Given the description of an element on the screen output the (x, y) to click on. 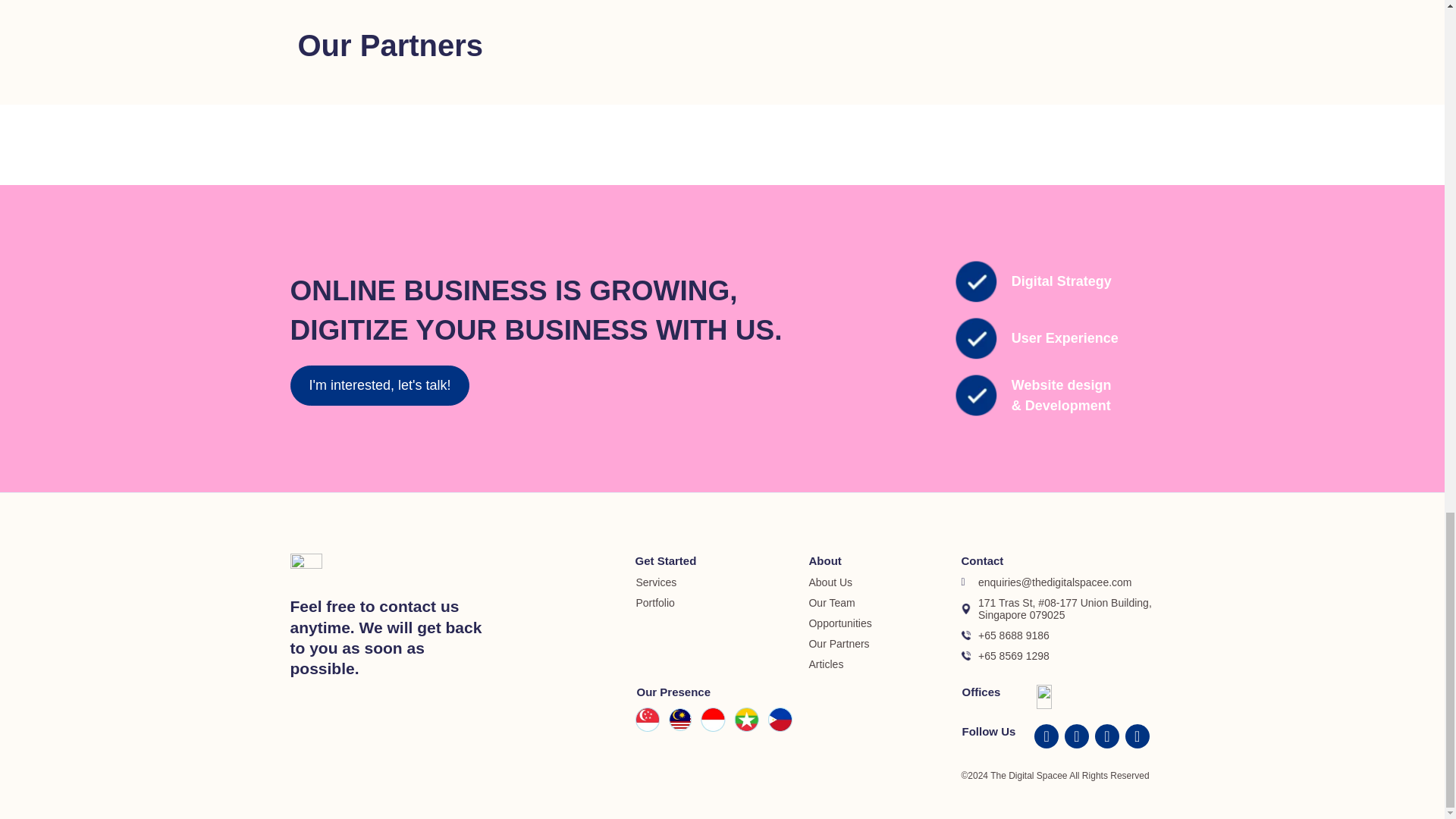
Our Team (884, 603)
Services (721, 582)
Our Partners (884, 644)
Portfolio (721, 603)
About Us (884, 582)
I'm interested, let's talk! (378, 385)
Opportunities (884, 623)
Articles (884, 664)
